Given the description of an element on the screen output the (x, y) to click on. 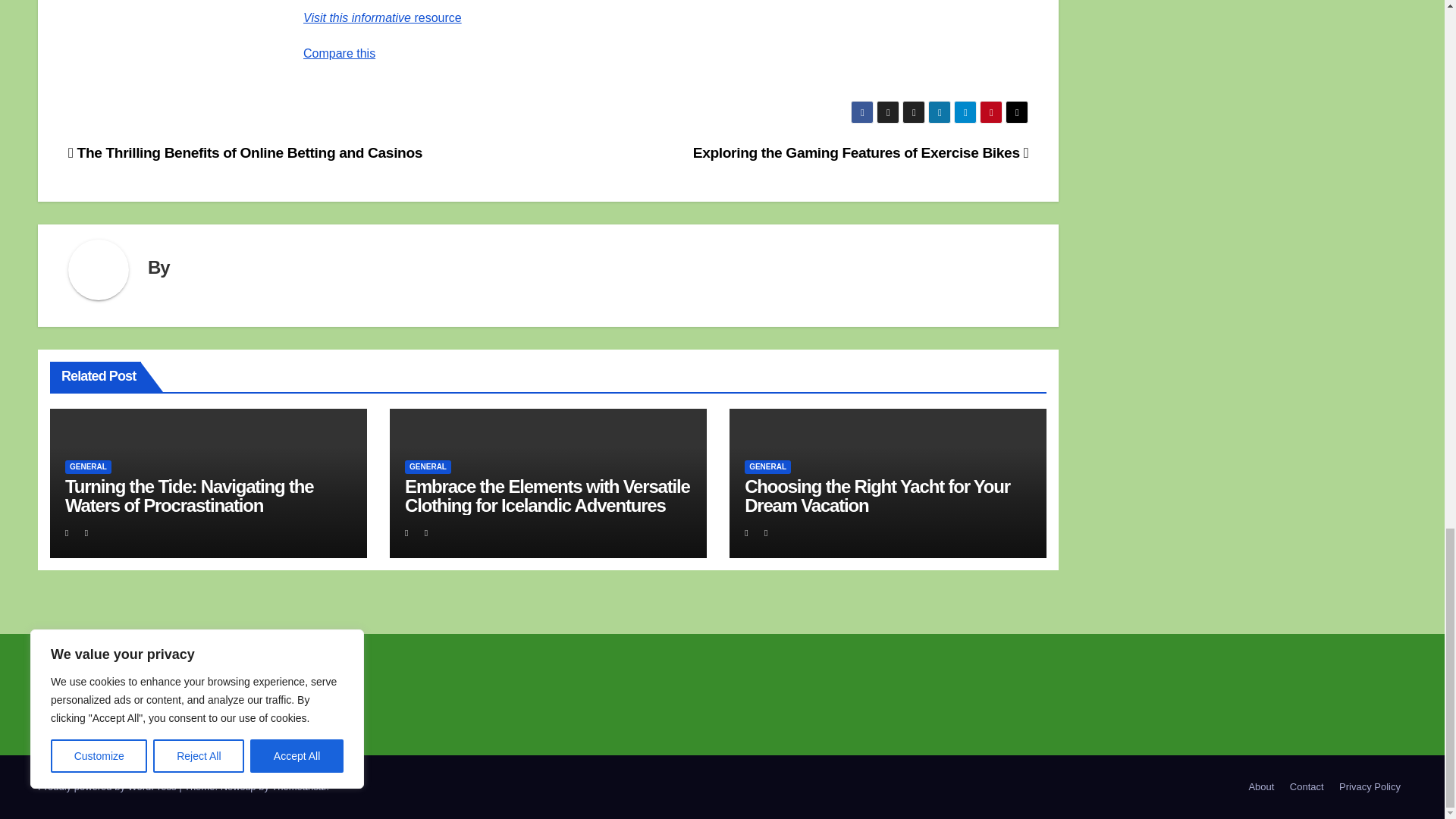
Visit this informative resource (381, 17)
Compare this (338, 52)
About (1260, 786)
Contact (1307, 786)
Privacy Policy (1369, 786)
